Given the description of an element on the screen output the (x, y) to click on. 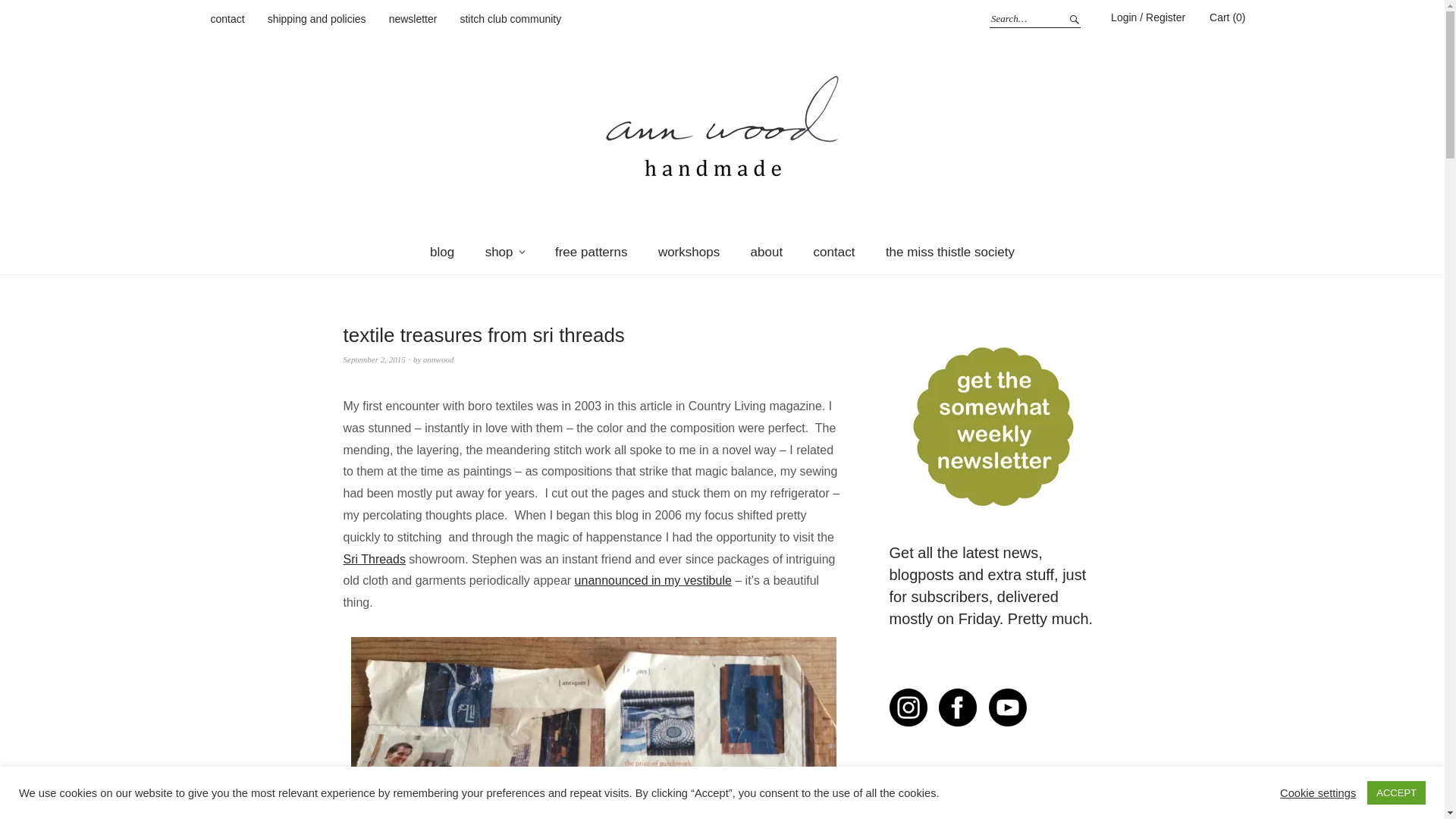
blog (441, 252)
stitch club community (510, 19)
workshops (689, 252)
contact (834, 252)
View cart (1226, 17)
newsletter (413, 19)
shipping and policies (316, 19)
the miss thistle society (949, 252)
shop (504, 252)
All posts by annwood (437, 358)
contact (227, 19)
about (766, 252)
free patterns (590, 252)
Sri Threads (373, 558)
annwood (437, 358)
